Given the description of an element on the screen output the (x, y) to click on. 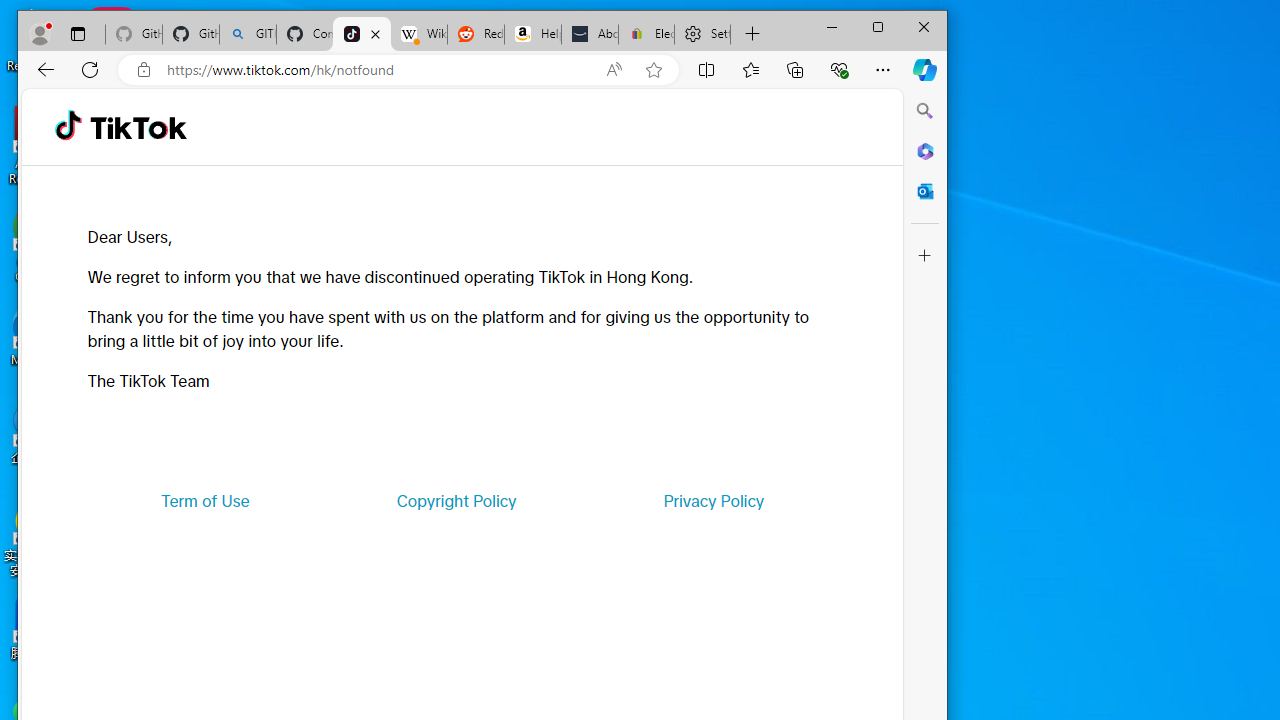
Wikipedia, the free encyclopedia (418, 34)
Copyright Policy (456, 500)
TikTok (362, 34)
